Given the description of an element on the screen output the (x, y) to click on. 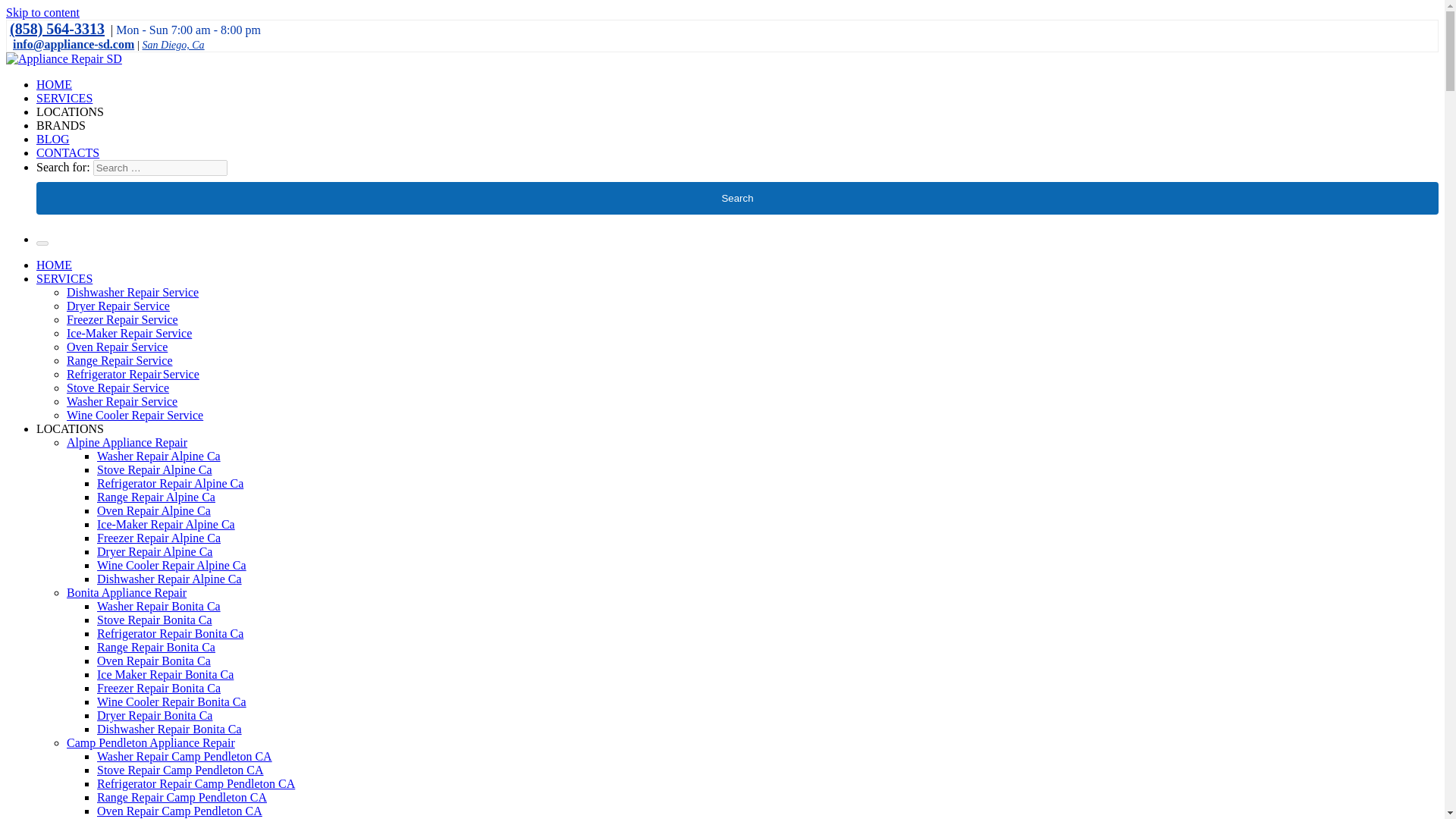
SERVICES (64, 97)
LOCATIONS (69, 111)
Appliance Repair SD (57, 83)
Skip to content (42, 11)
San Diego, Ca (173, 44)
HOME (53, 83)
